Given the description of an element on the screen output the (x, y) to click on. 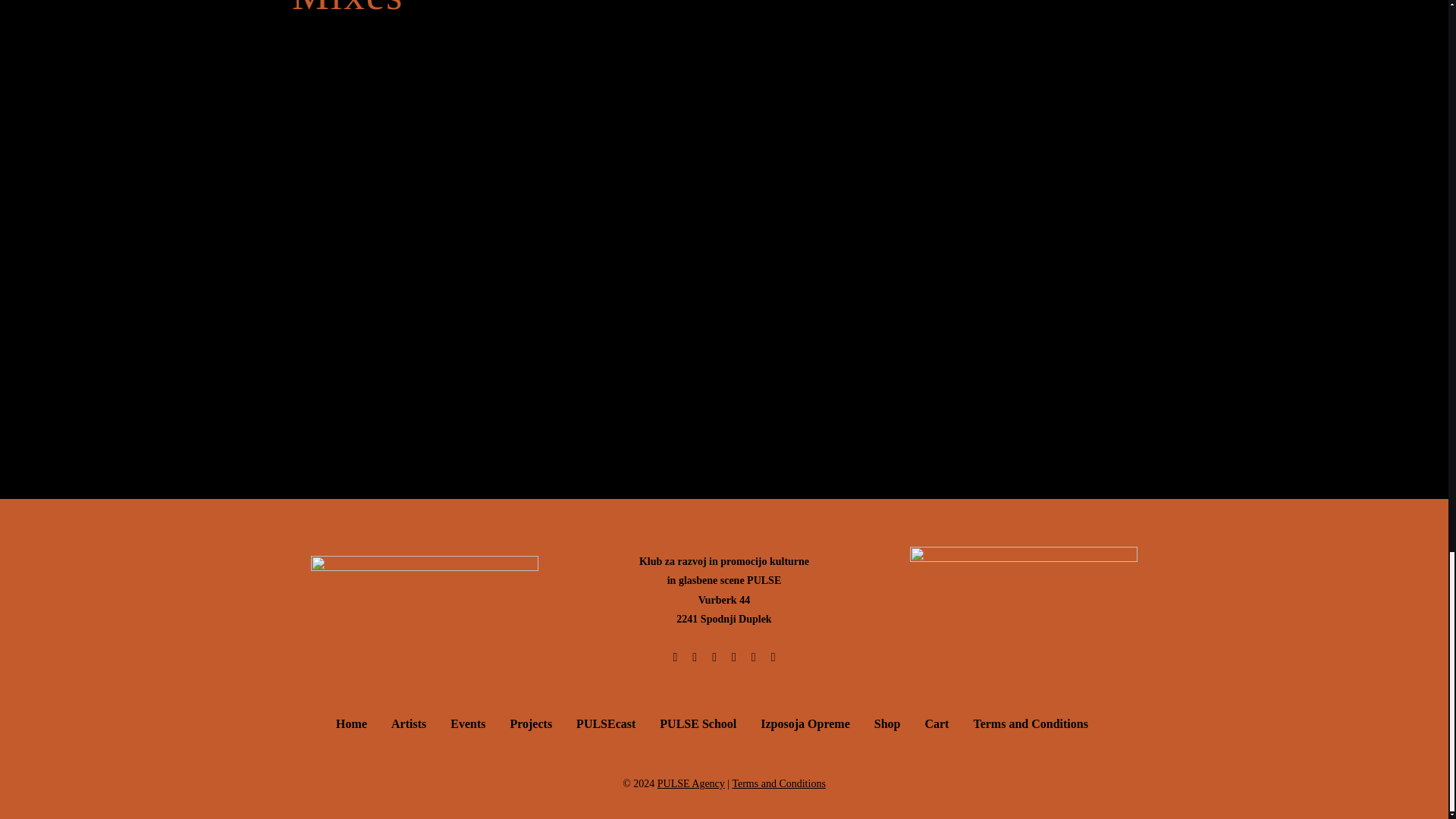
YouTube video player 4 (968, 78)
soundcloud (724, 105)
soundcloud (724, 237)
YouTube video player 3 (519, 78)
soundcloud (724, 369)
